Given the description of an element on the screen output the (x, y) to click on. 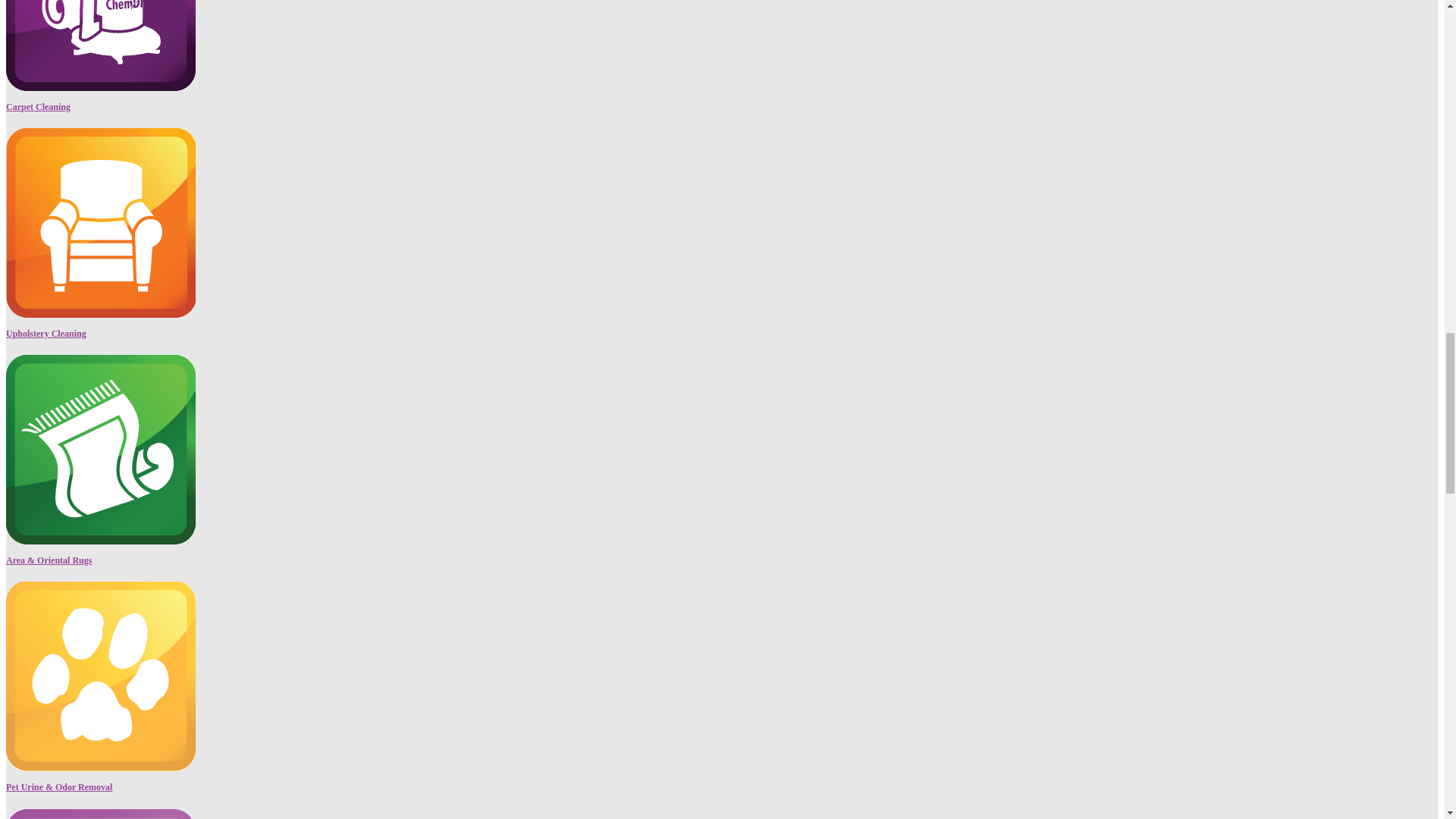
uphostery cleaning (100, 222)
area rug cleaning (100, 45)
area rug cleaning (100, 449)
specialty stains (100, 813)
pet urine cleaning (100, 676)
